Given the description of an element on the screen output the (x, y) to click on. 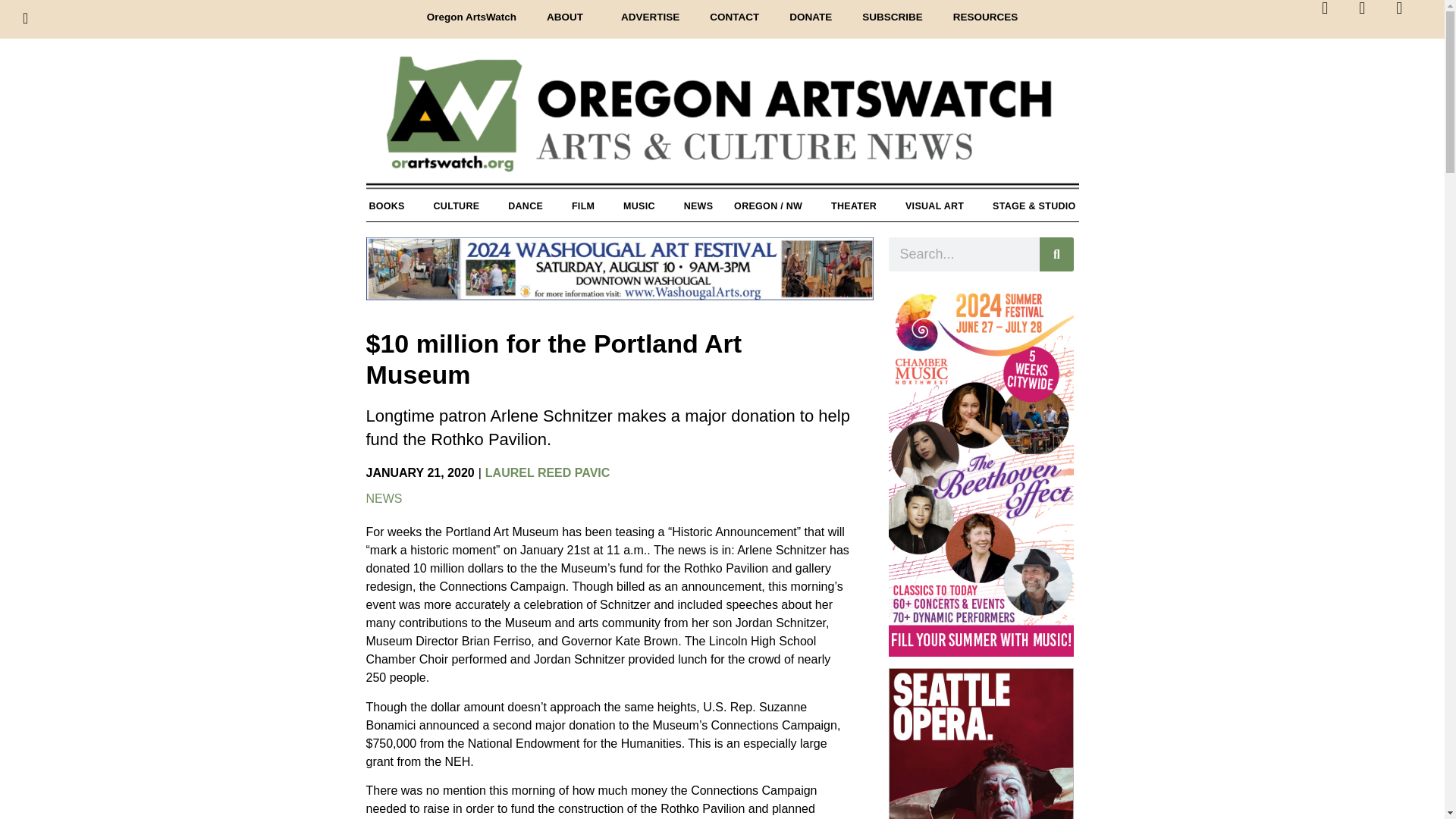
CONTACT (734, 17)
Oregon ArtsWatch (471, 17)
SUBSCRIBE (892, 17)
DONATE (810, 17)
RESOURCES (985, 17)
ADVERTISE (649, 17)
ABOUT (568, 17)
Oregon ArtsWatch (721, 122)
